Given the description of an element on the screen output the (x, y) to click on. 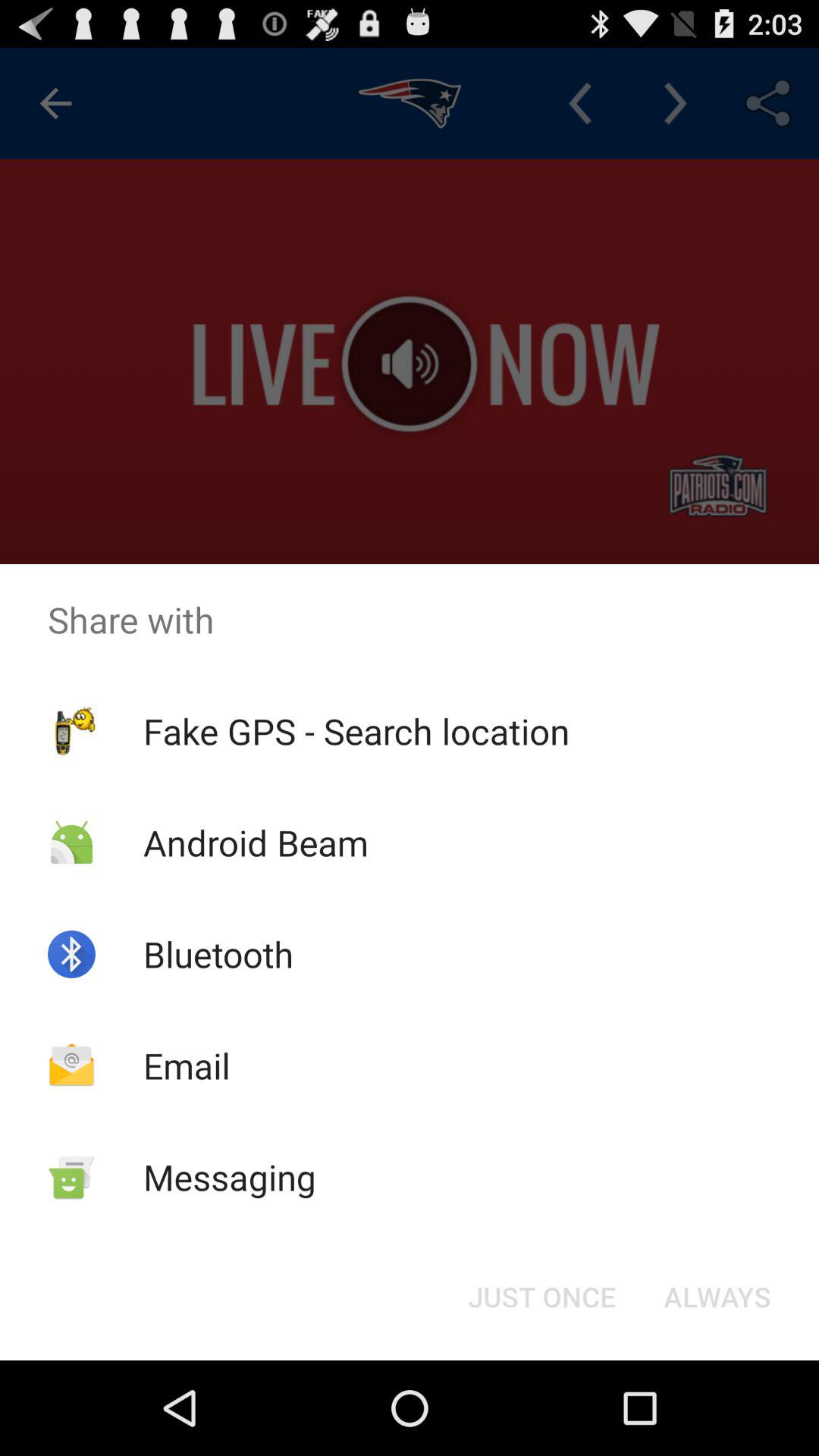
select the icon below android beam icon (218, 953)
